Given the description of an element on the screen output the (x, y) to click on. 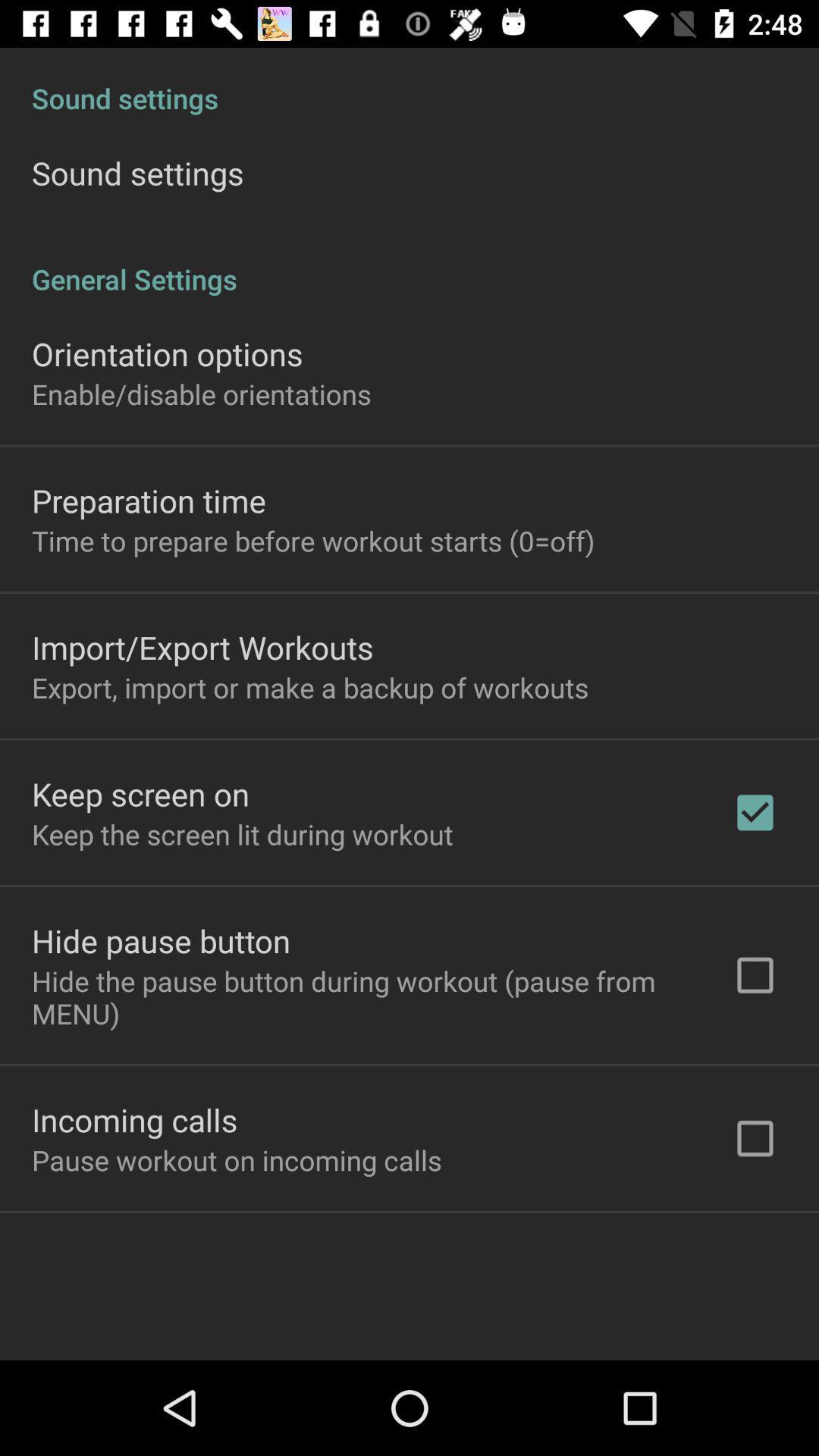
choose item below sound settings (409, 263)
